Given the description of an element on the screen output the (x, y) to click on. 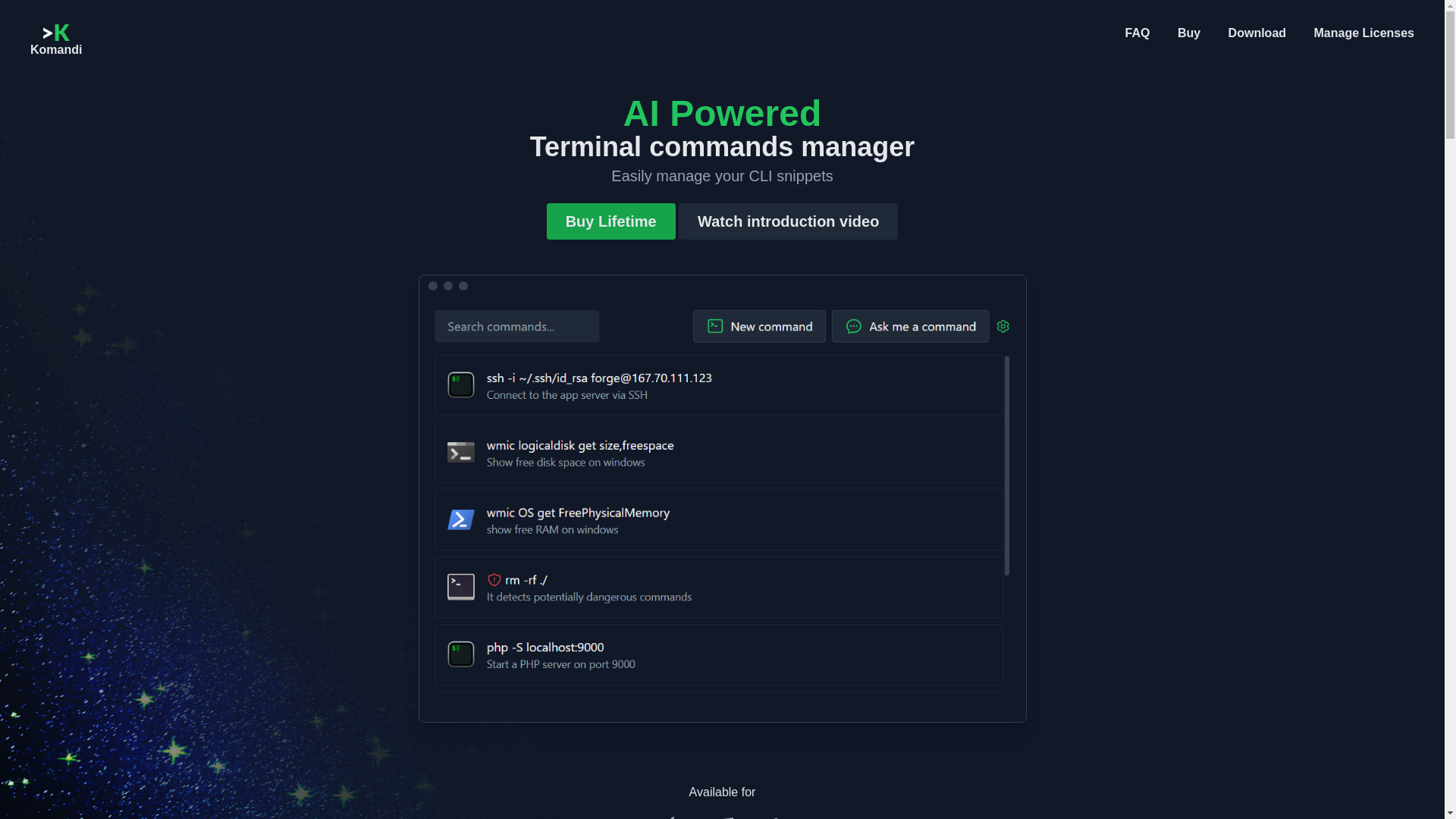
macOS (669, 817)
Download (1256, 32)
Linux (775, 817)
Windows (722, 817)
Buy (1188, 32)
Watch introduction video (788, 221)
FAQ (1137, 32)
Manage Licenses (1363, 32)
Buy Lifetime (611, 221)
